Given the description of an element on the screen output the (x, y) to click on. 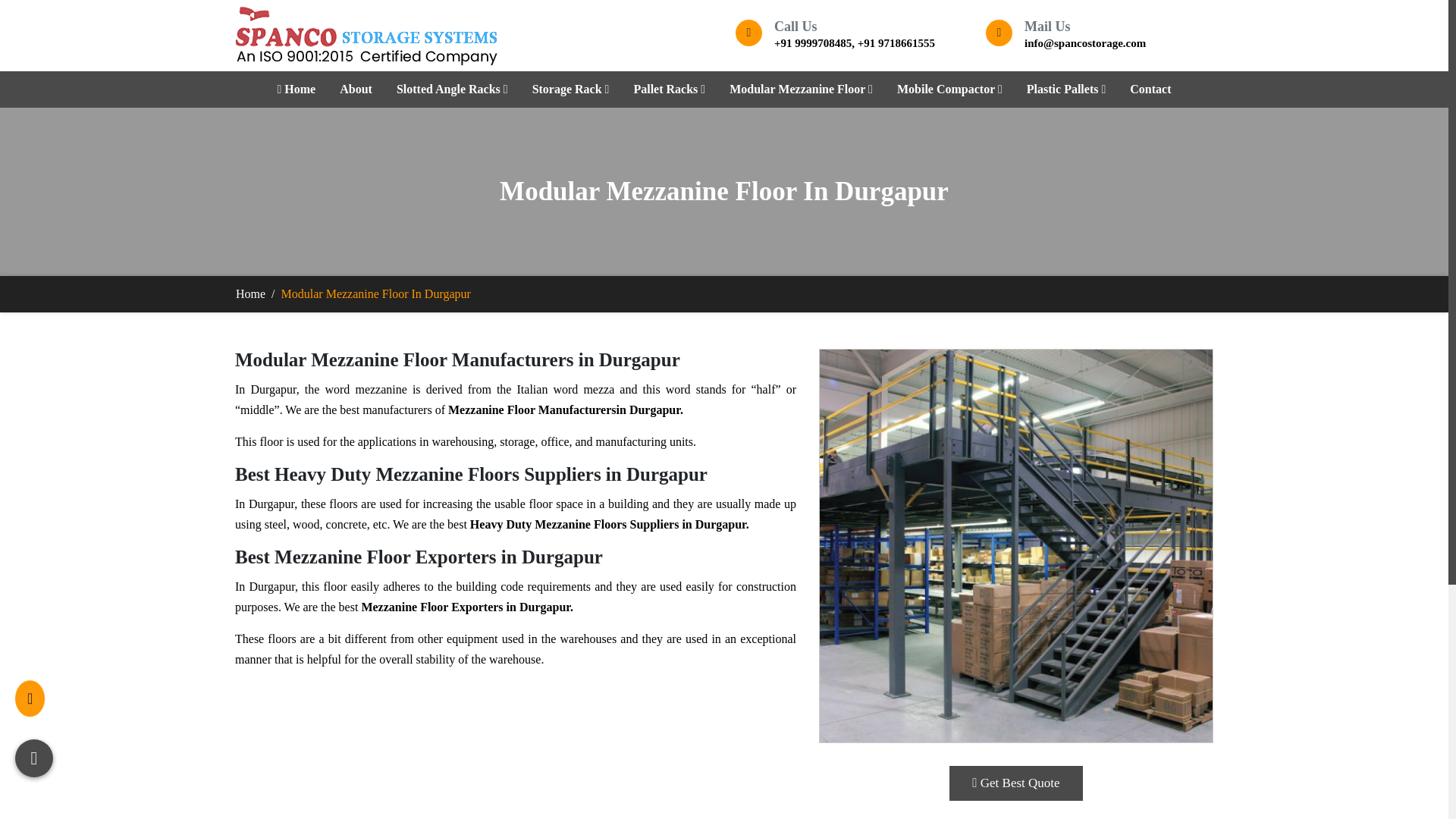
Slotted Angle Racks (452, 89)
Home (295, 89)
Storage Rack (571, 89)
About (355, 89)
Spanco Storage Systems (365, 35)
Slotted Angle Racks (452, 89)
